Given the description of an element on the screen output the (x, y) to click on. 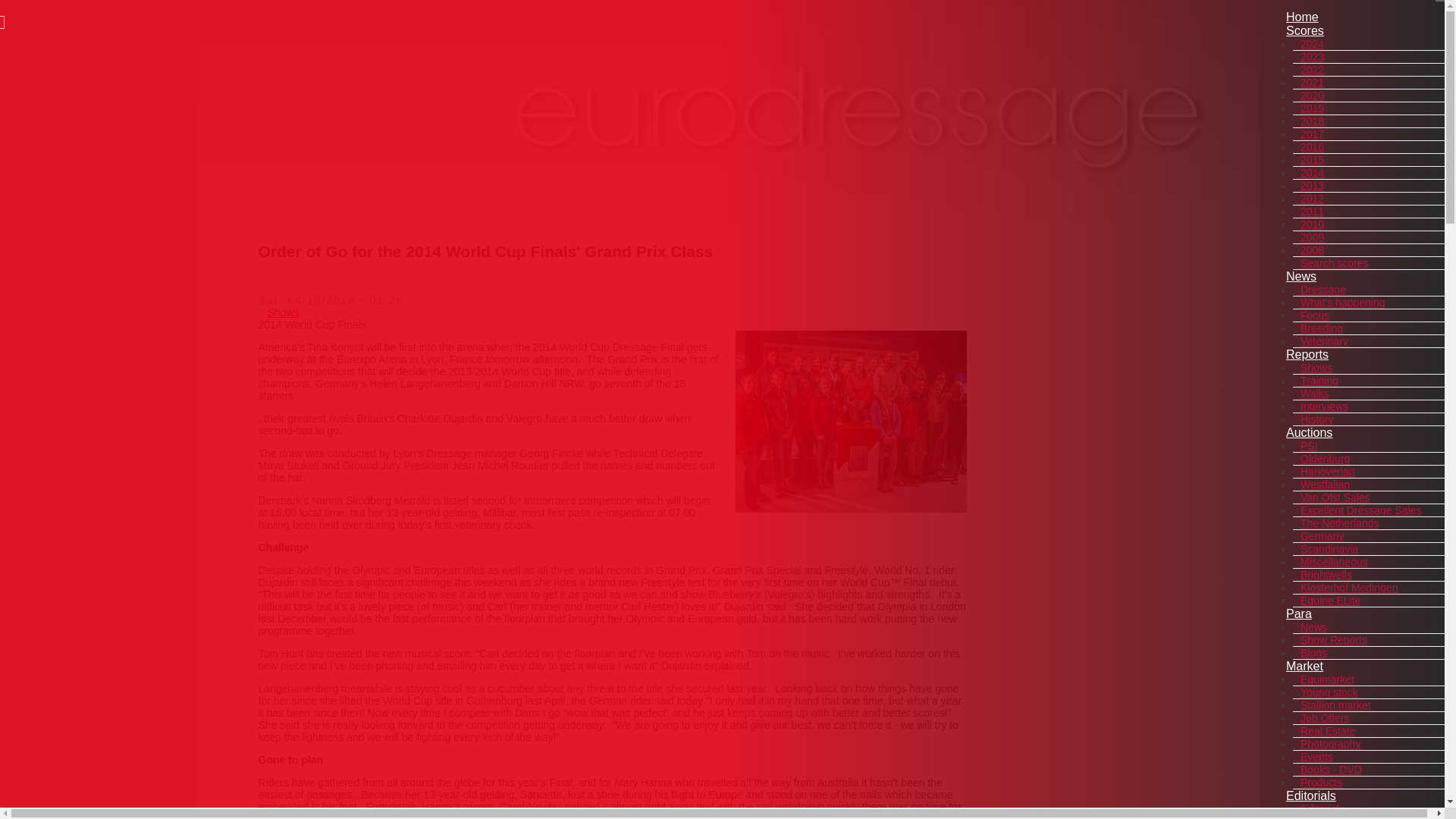
2021 (1312, 82)
2015 (1312, 159)
News (1300, 276)
Focus (1314, 315)
2019 (1312, 108)
Home (1301, 16)
Training (1318, 379)
2014 (1312, 172)
PSI (1308, 445)
2011 (1312, 211)
Hanoverian (1327, 471)
2022 (1312, 69)
Auctions (1308, 431)
Interviews (1323, 406)
Walks (1314, 393)
